Given the description of an element on the screen output the (x, y) to click on. 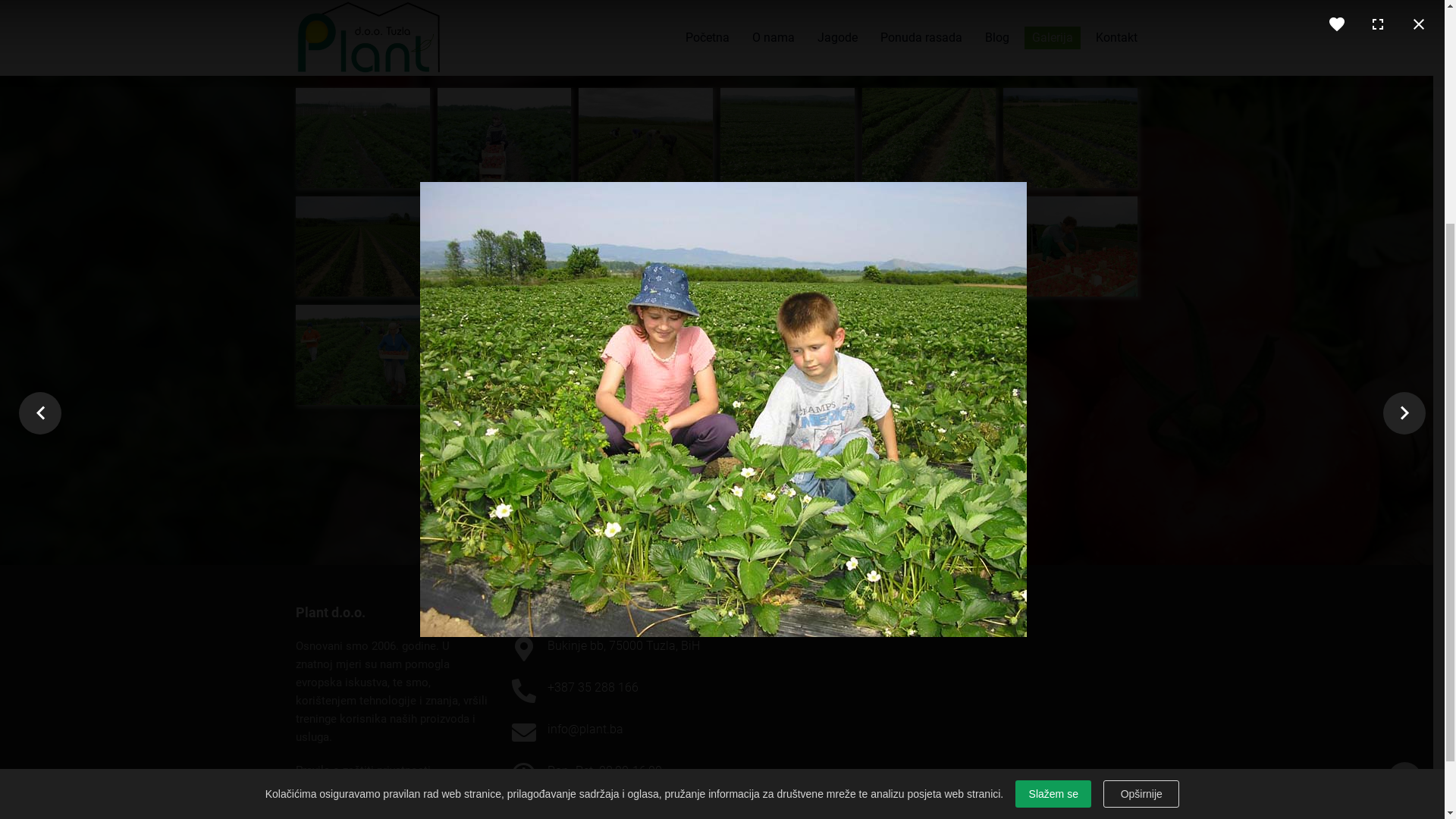
O nama Element type: text (773, 362)
info@plant.ba Element type: text (1094, 15)
Kontakt Element type: text (1116, 362)
035 288-166 Element type: text (1001, 15)
Ponuda rasada Element type: text (921, 362)
Jagode Element type: text (837, 362)
Galerija Element type: text (1052, 362)
Blog Element type: text (996, 362)
